Given the description of an element on the screen output the (x, y) to click on. 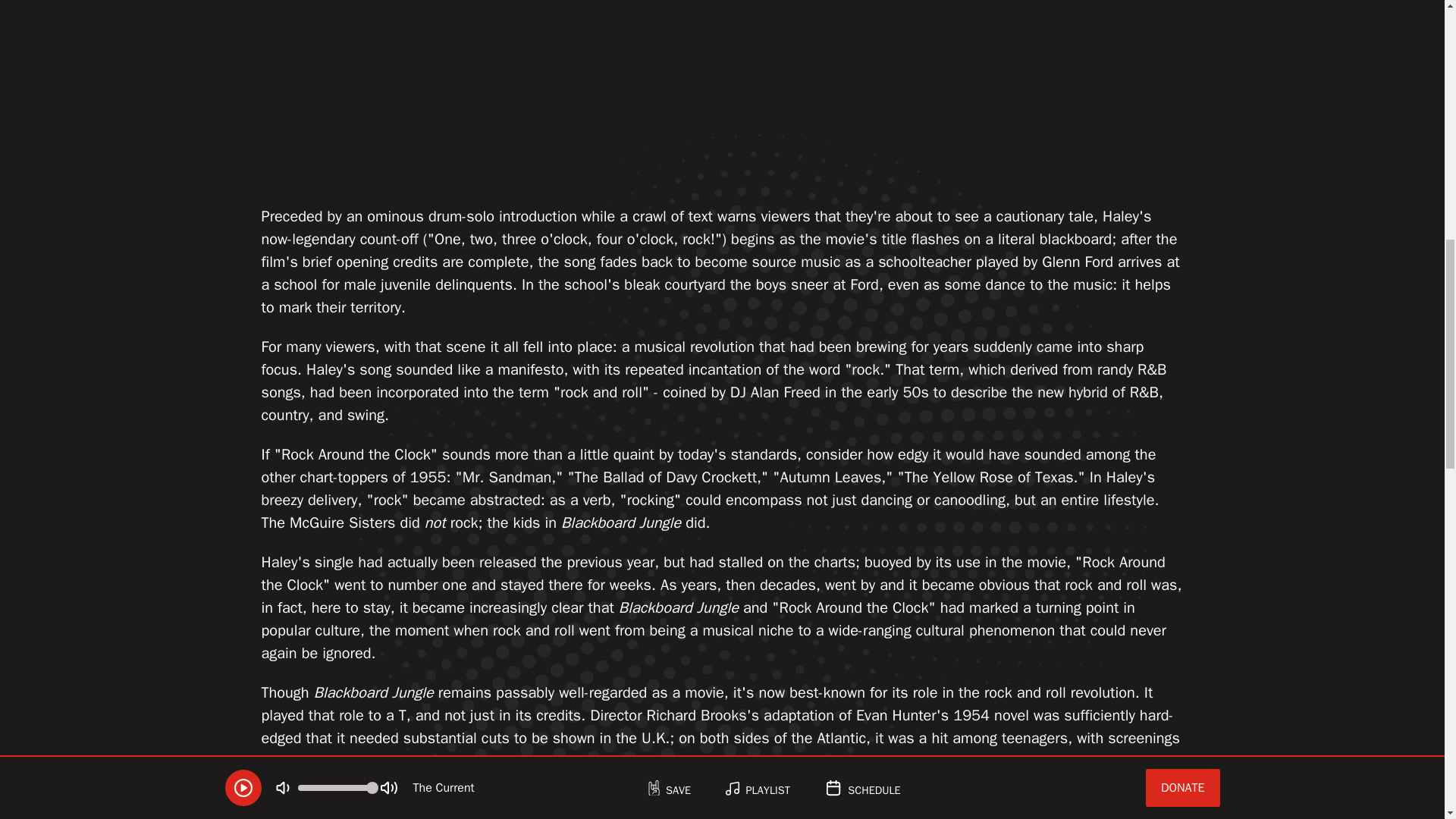
3rd party ad content (373, 94)
